Given the description of an element on the screen output the (x, y) to click on. 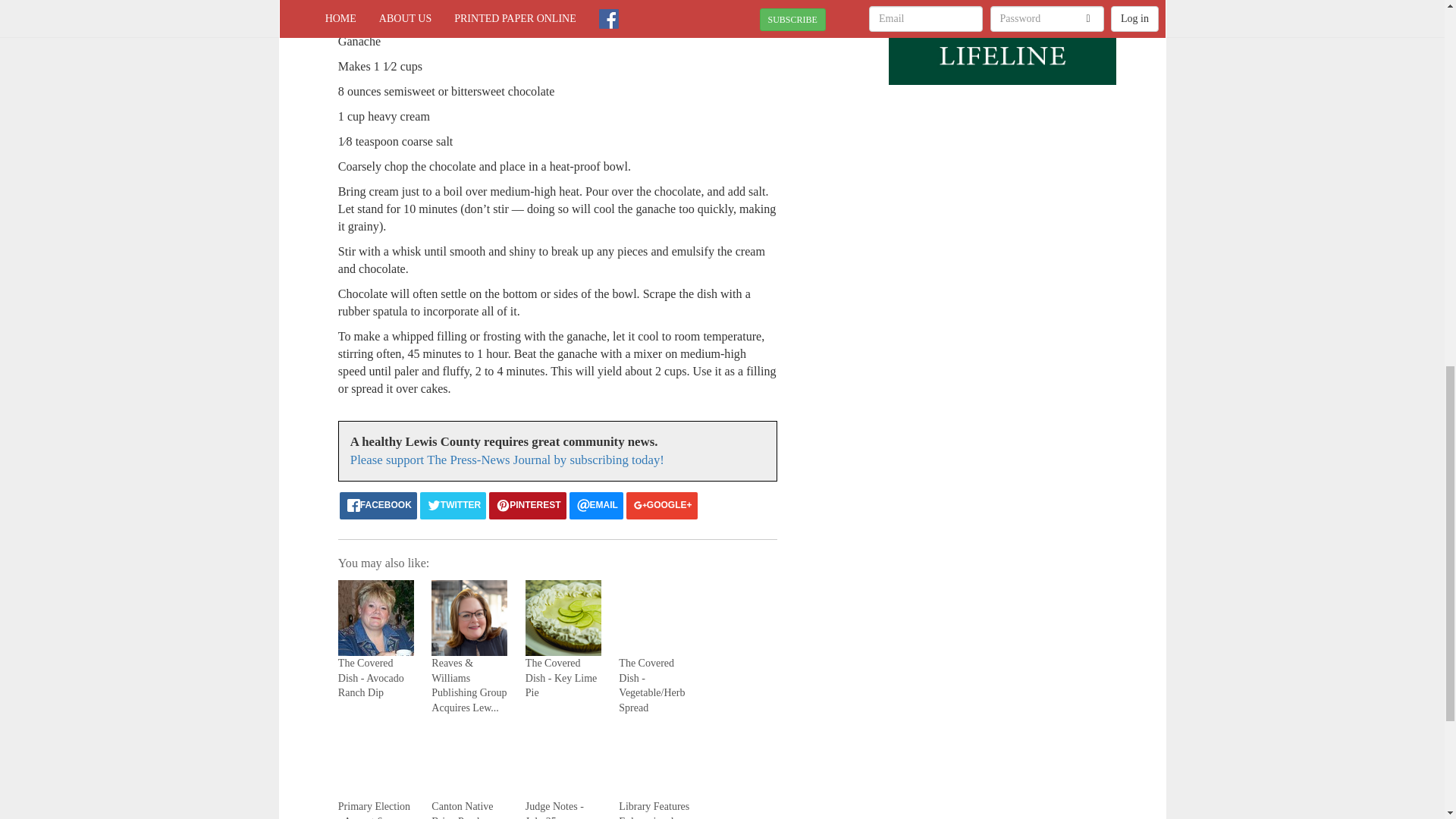
Email (596, 505)
Facebook (377, 505)
Pinterest (527, 505)
Twitter (453, 505)
